Given the description of an element on the screen output the (x, y) to click on. 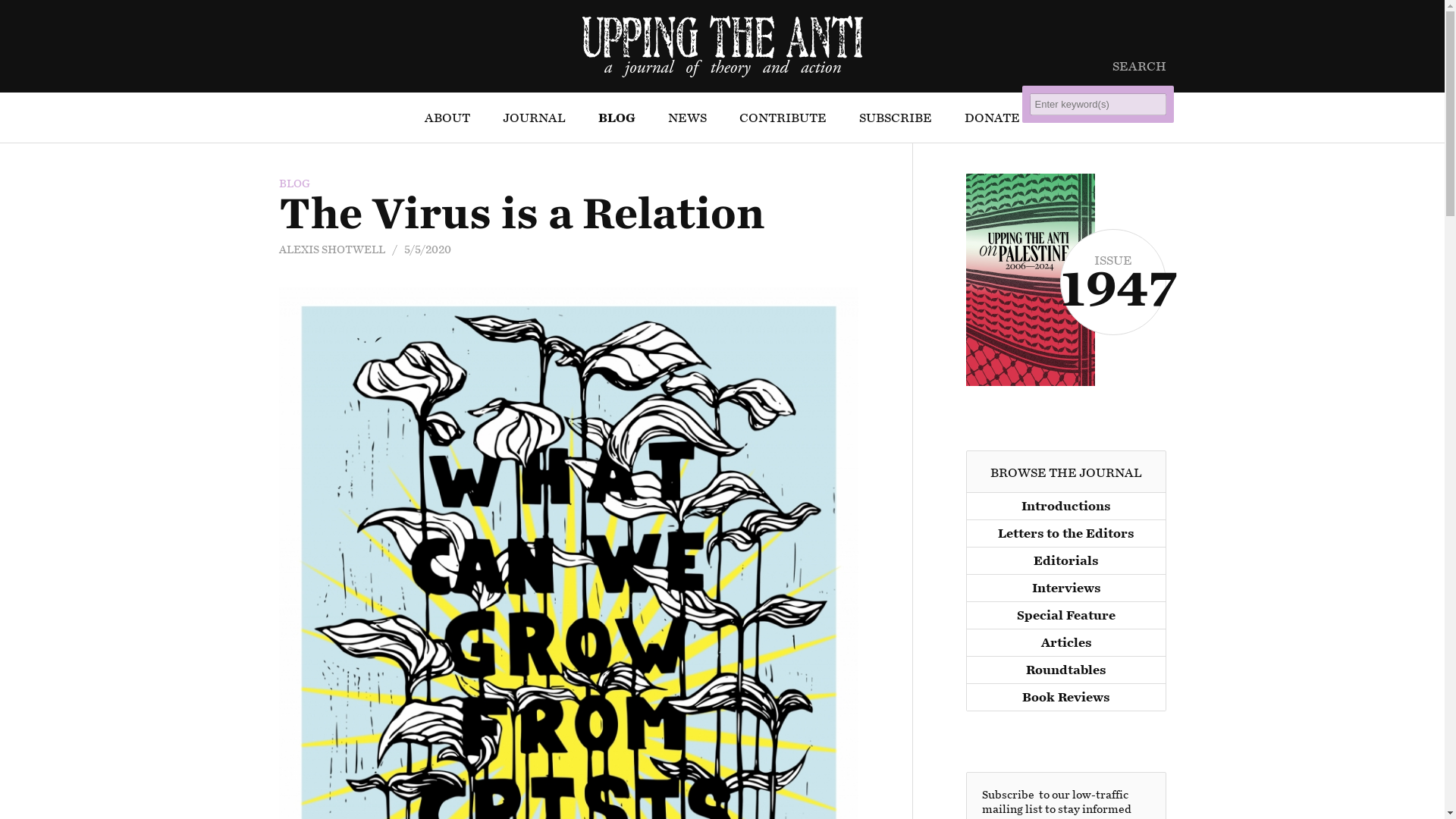
ABOUT (446, 117)
DONATE (992, 117)
Special Feature (1065, 614)
Editorials (1065, 560)
Introductions (1065, 505)
BLOG (616, 117)
Interviews (1065, 587)
CONTRIBUTE (782, 117)
BLOG (294, 183)
NEWS (687, 117)
